Given the description of an element on the screen output the (x, y) to click on. 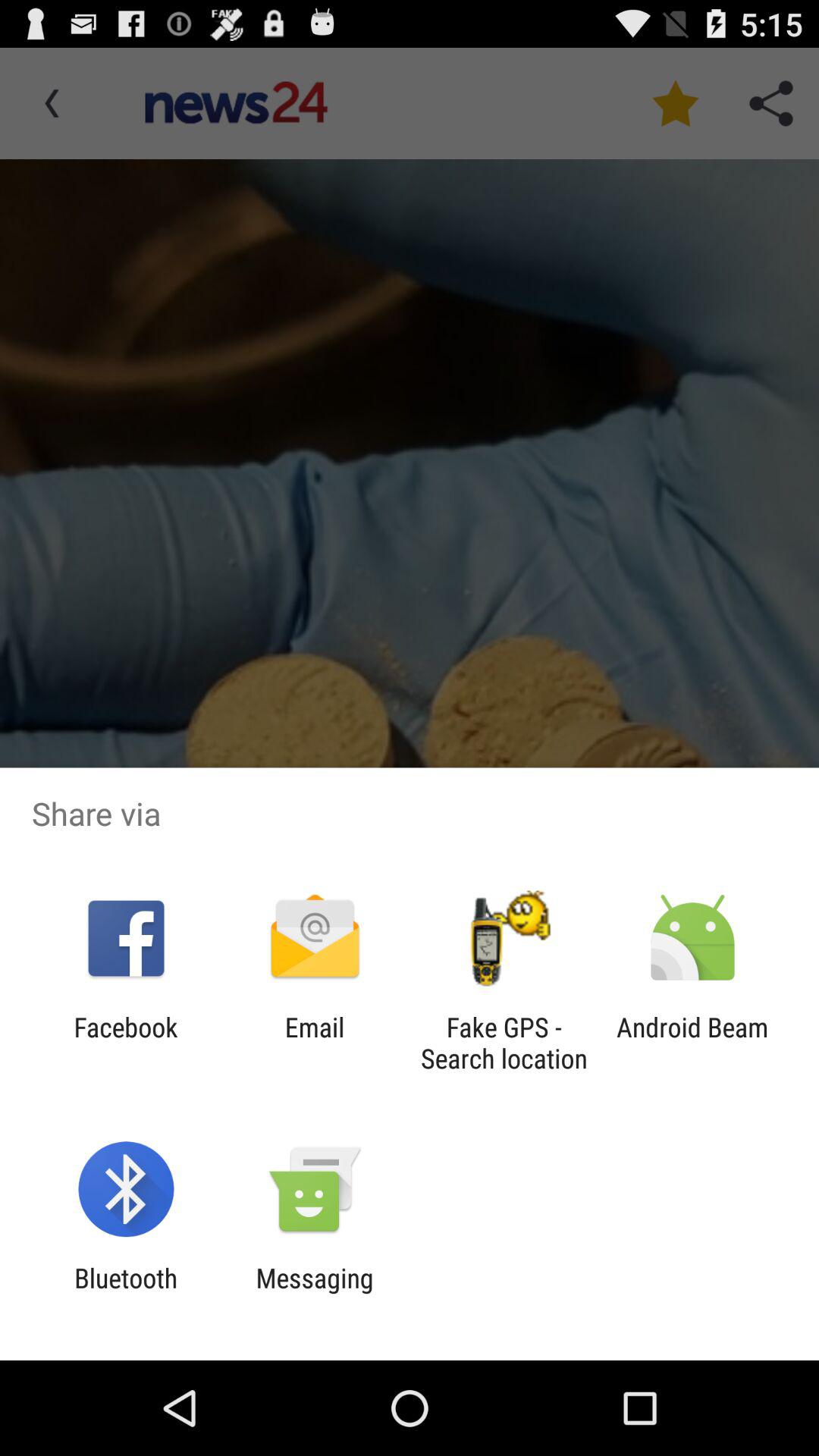
click item next to the fake gps search icon (314, 1042)
